Given the description of an element on the screen output the (x, y) to click on. 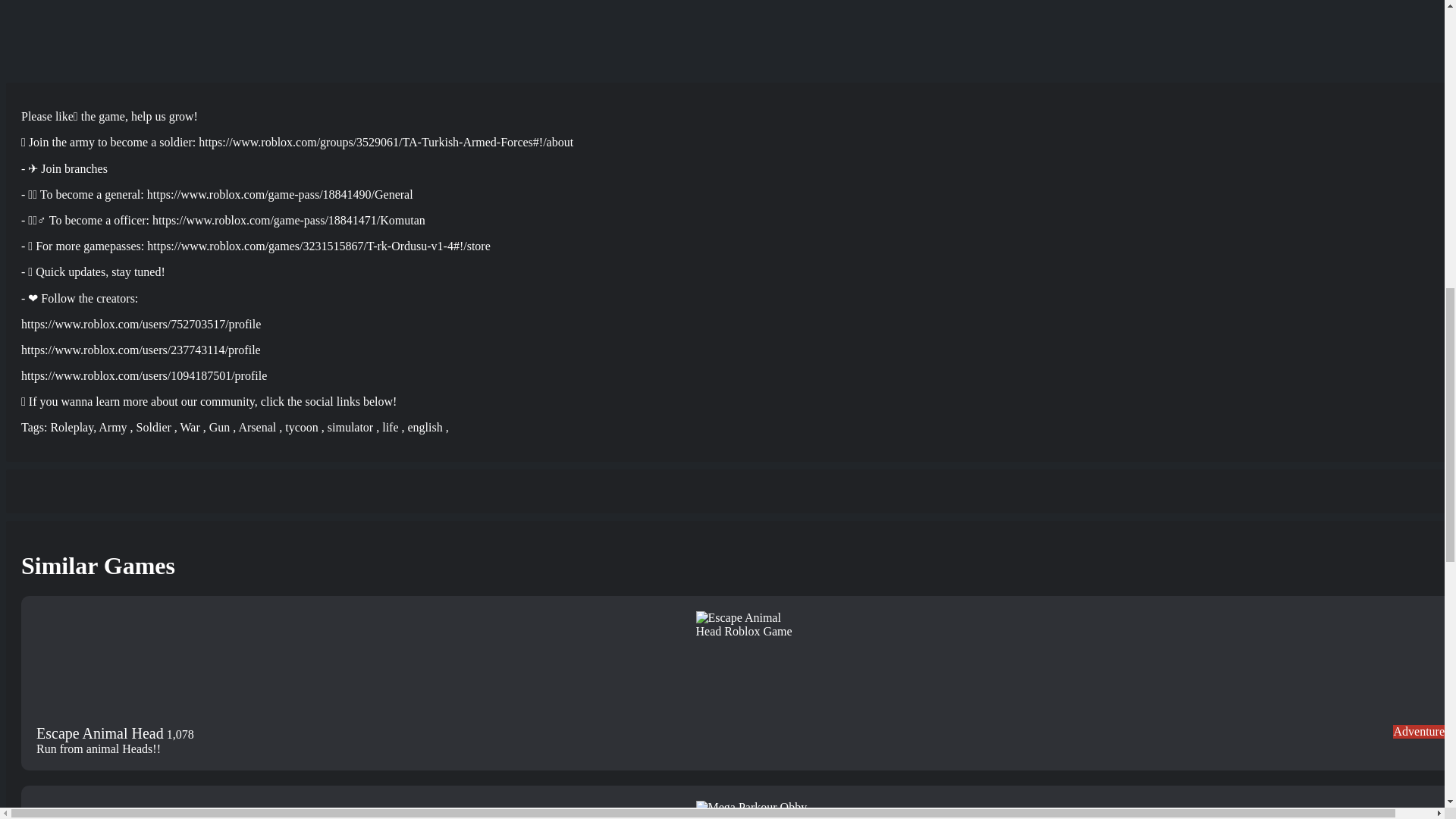
Escape Animal Head Roblox Game (752, 667)
Mega Parkour Obby Roblox Game (752, 809)
Escape Animal Head (99, 734)
Adventure (1418, 731)
